Given the description of an element on the screen output the (x, y) to click on. 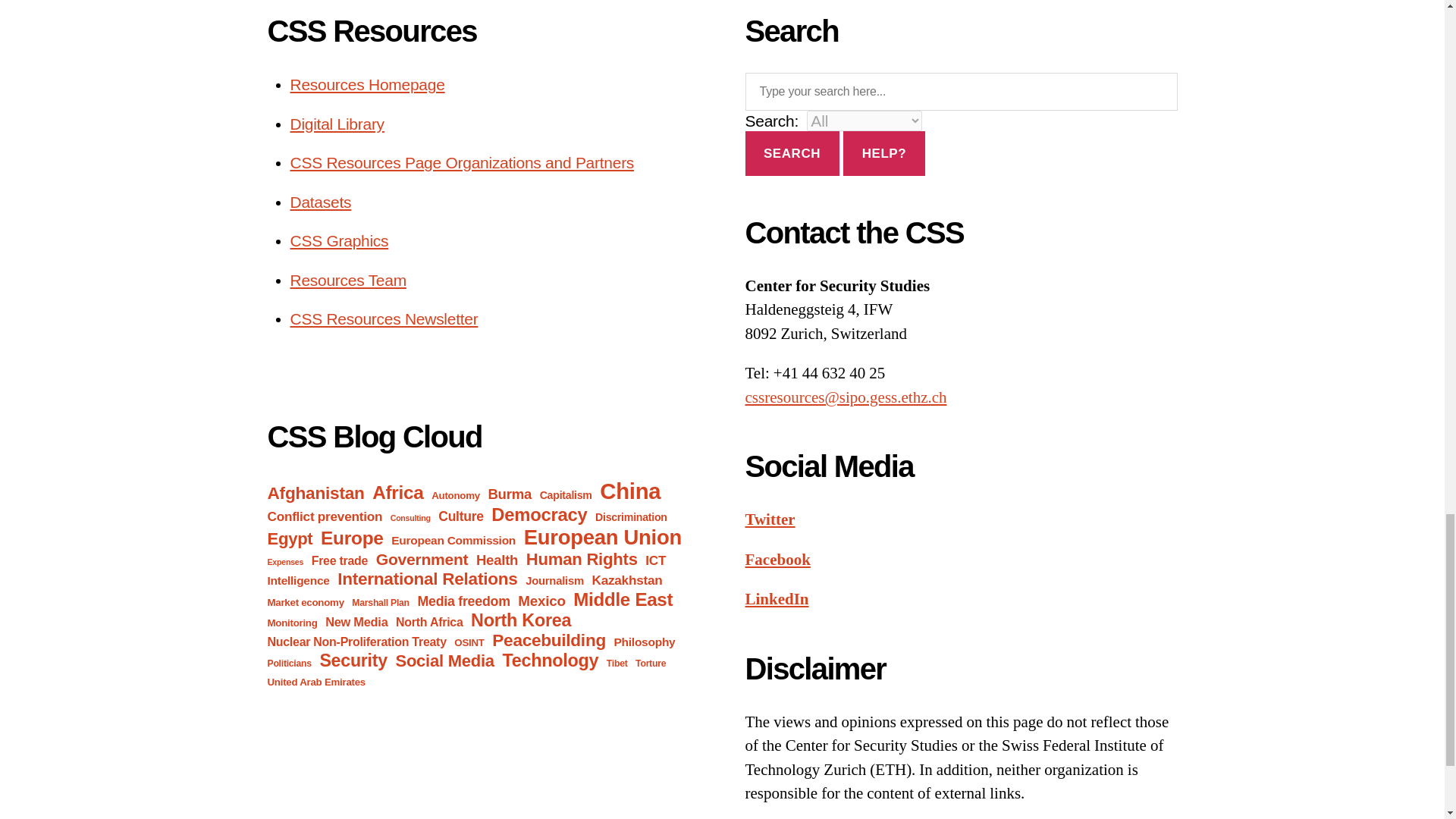
CSS Resources Page Organizations and Partners (461, 162)
Resources Homepage (366, 84)
Datasets (319, 201)
Digital Library (336, 123)
